Given the description of an element on the screen output the (x, y) to click on. 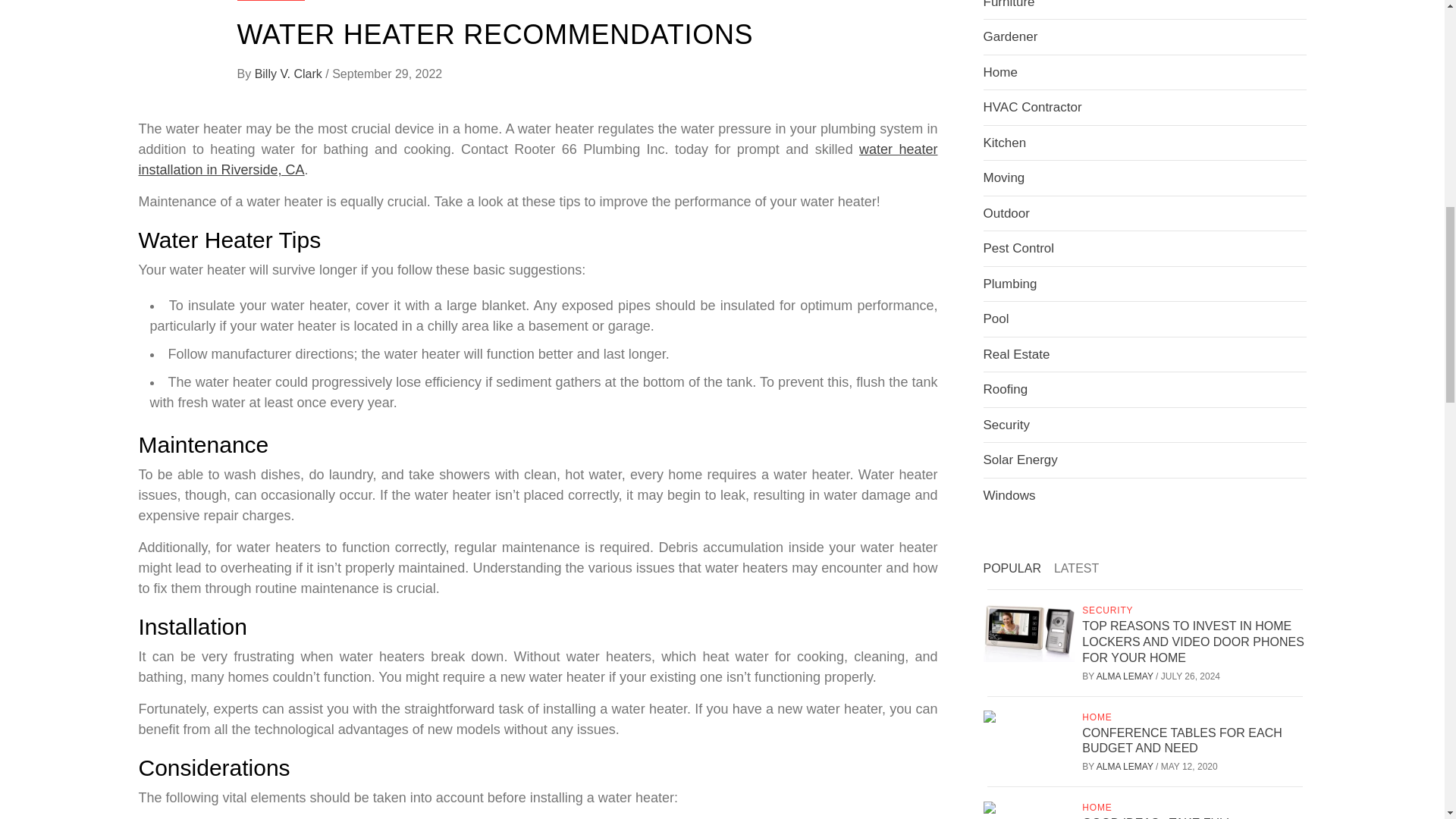
water heater installation in Riverside, CA (537, 159)
Billy V. Clark (290, 73)
PLUMBING (269, 0)
